Given the description of an element on the screen output the (x, y) to click on. 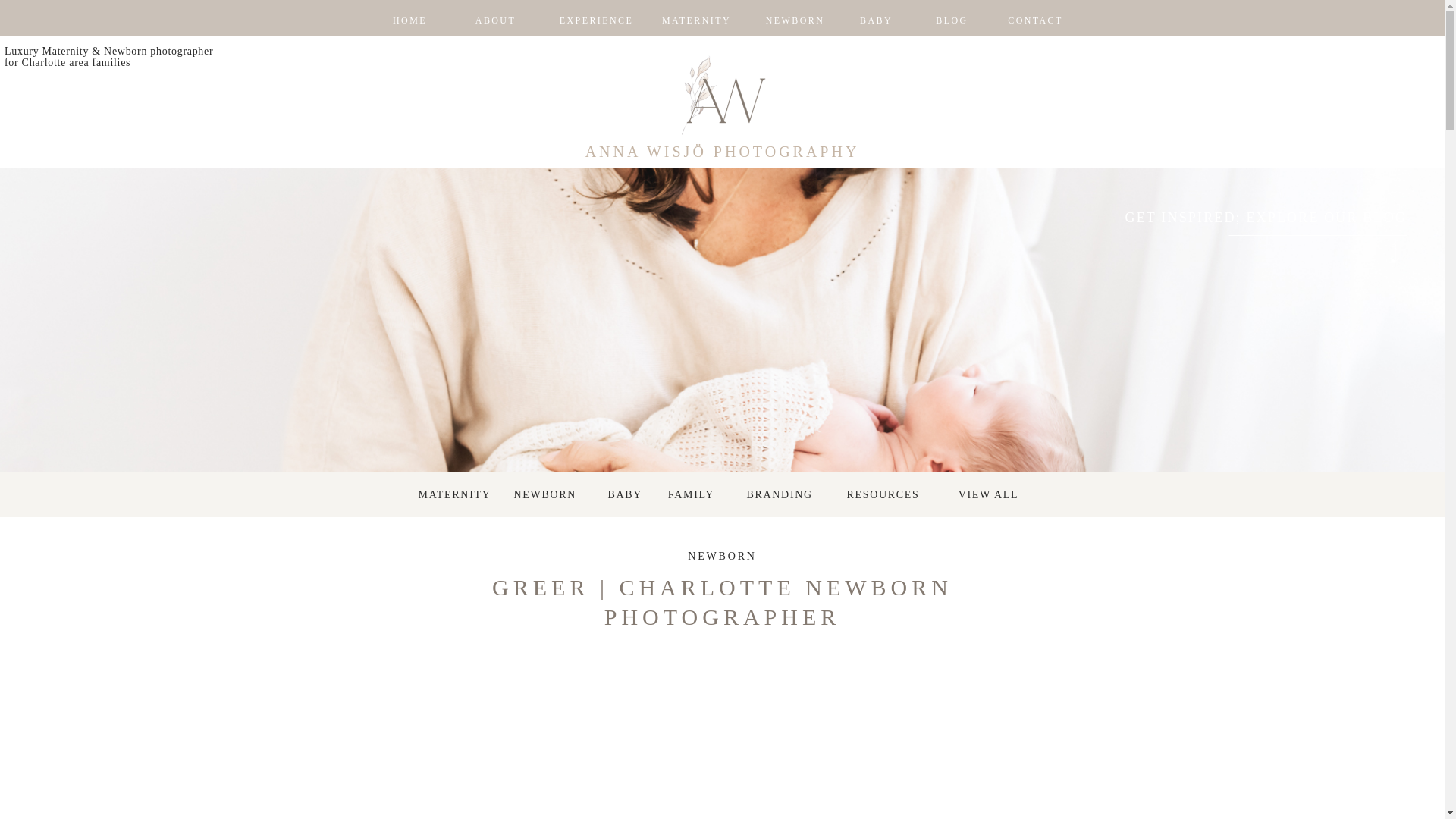
NEWBORN (721, 555)
BLOG (952, 19)
NEWBORN (552, 494)
BABY (876, 19)
NEWBORN (794, 19)
CONTACT (1035, 19)
FAMILY (690, 494)
VIEW ALL (987, 494)
Created by potrace 1.15, written by Peter Selinger 2001-2017 (1394, 253)
EXPERIENCE (595, 19)
BRANDING (784, 494)
BABY (633, 494)
HOME (408, 19)
RESOURCES (886, 494)
MATERNITY (457, 494)
